Given the description of an element on the screen output the (x, y) to click on. 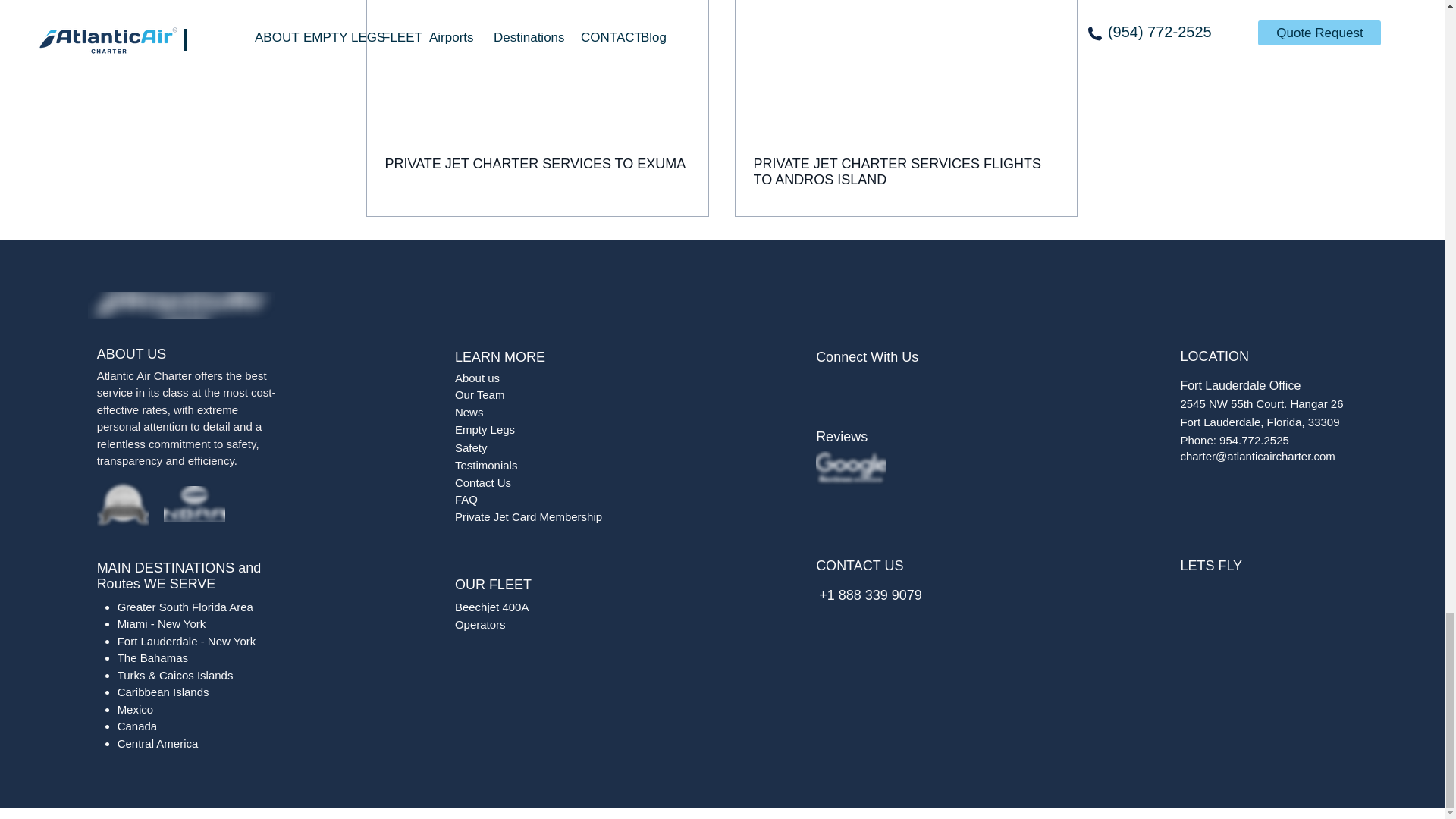
PRIVATE JET CHARTER SERVICES FLIGHTS TO ANDROS ISLAND (906, 172)
PRIVATE JET CHARTER SERVICES TO EXUMA (537, 163)
